Given the description of an element on the screen output the (x, y) to click on. 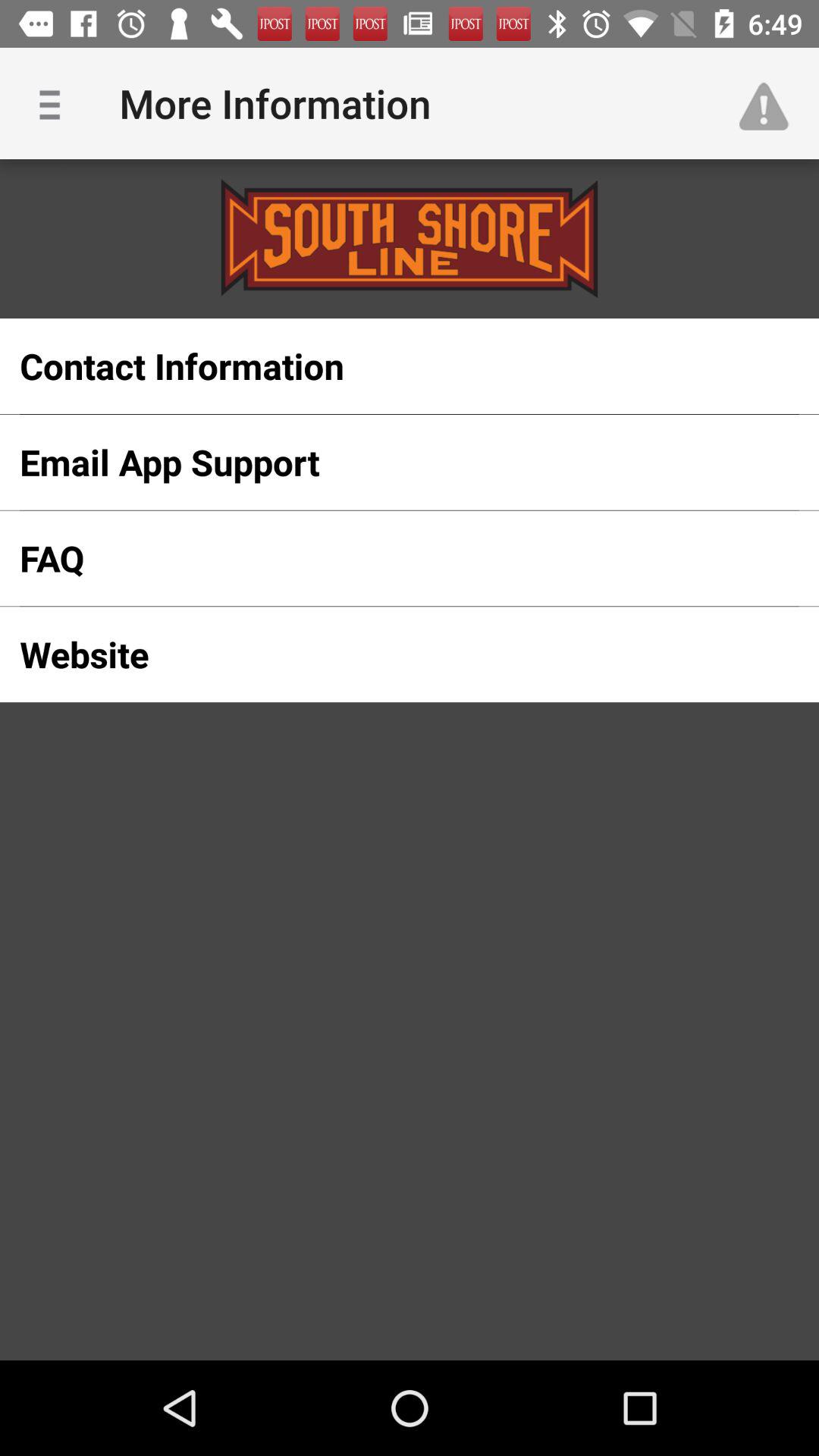
swipe to contact information item (385, 366)
